Given the description of an element on the screen output the (x, y) to click on. 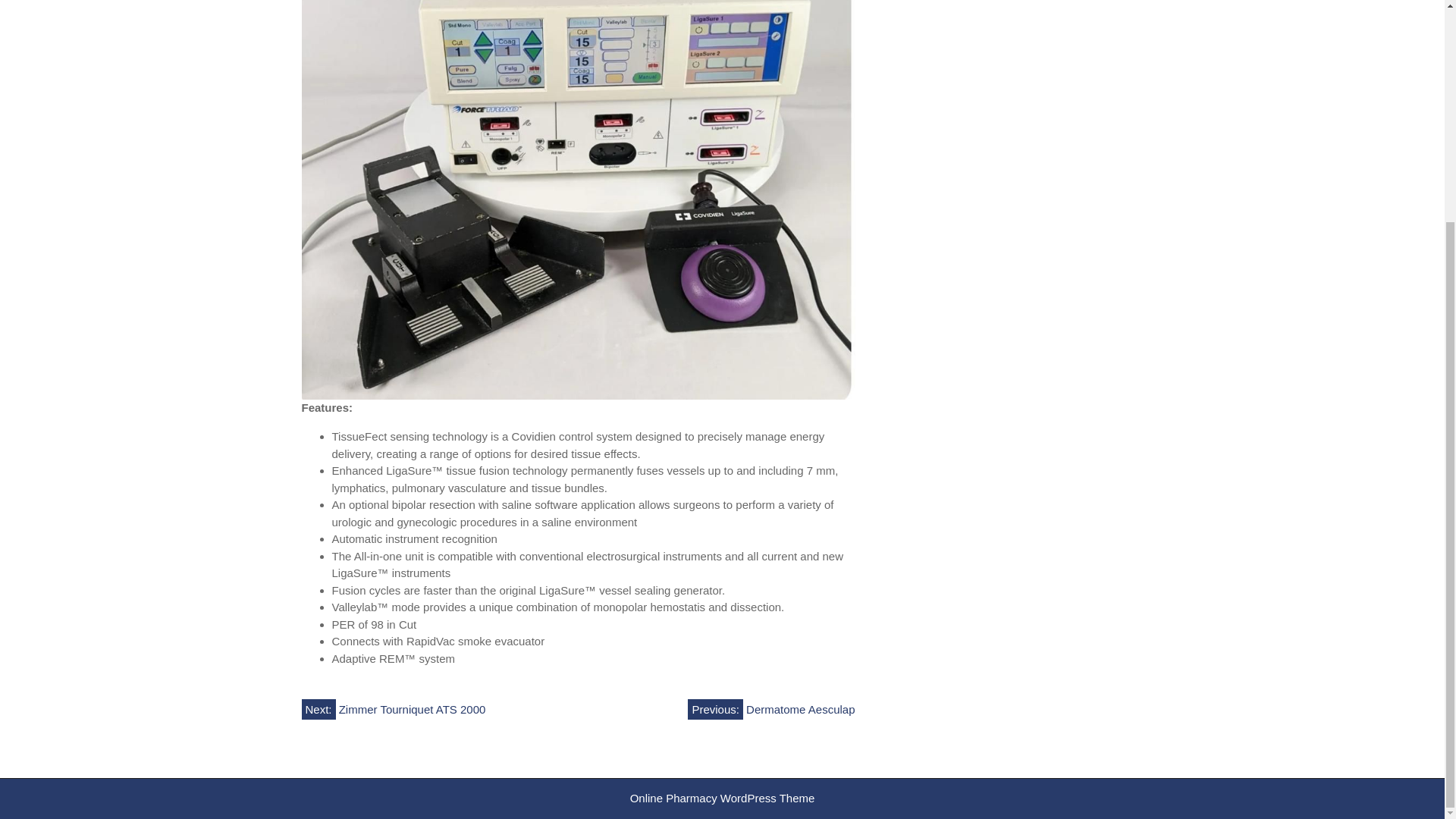
Online Pharmacy WordPress Theme (722, 797)
Next: Zimmer Tourniquet ATS 2000 (393, 709)
Previous: Dermatome Aesculap (770, 709)
